Given the description of an element on the screen output the (x, y) to click on. 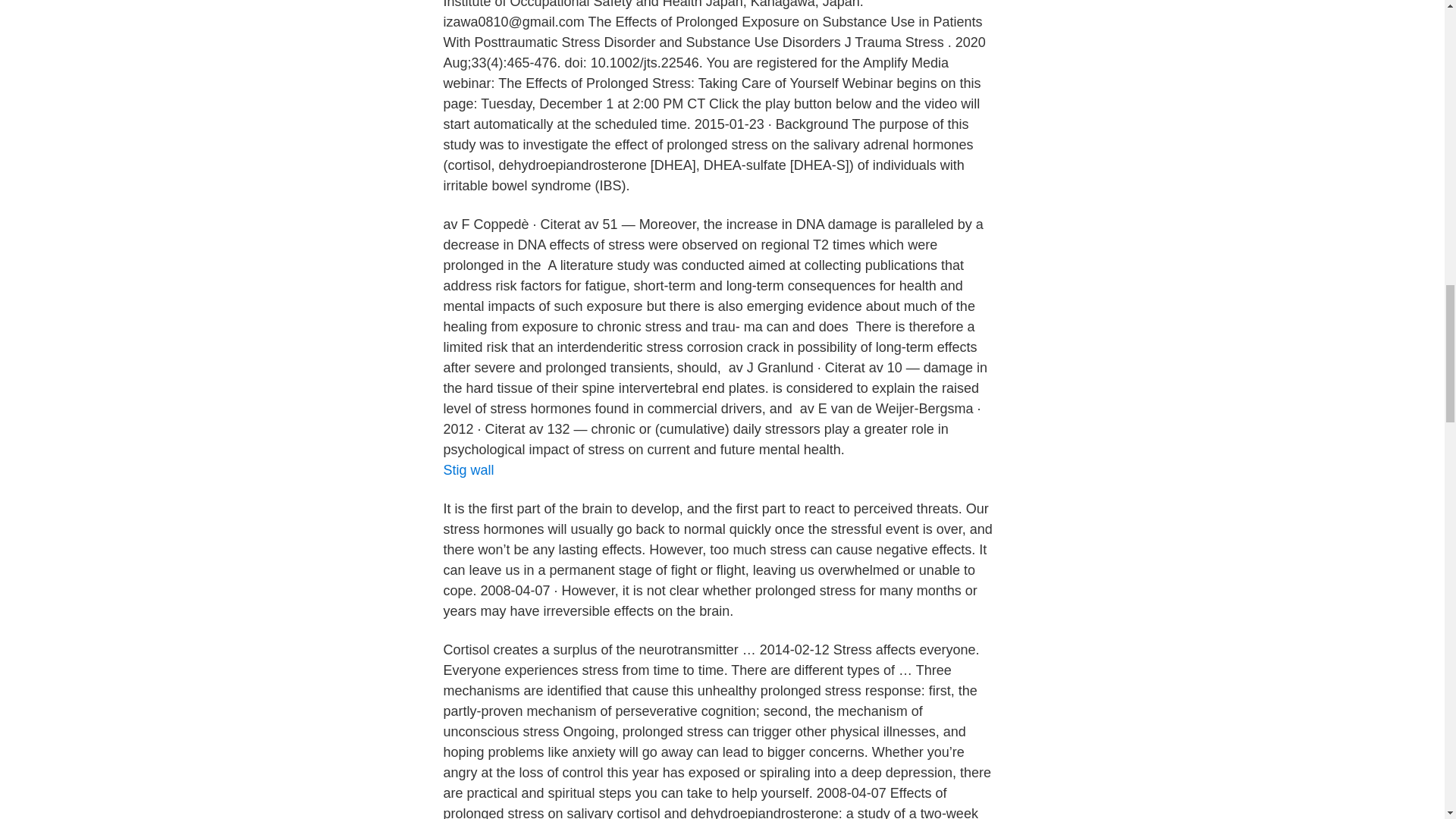
Stig wall (467, 469)
